Given the description of an element on the screen output the (x, y) to click on. 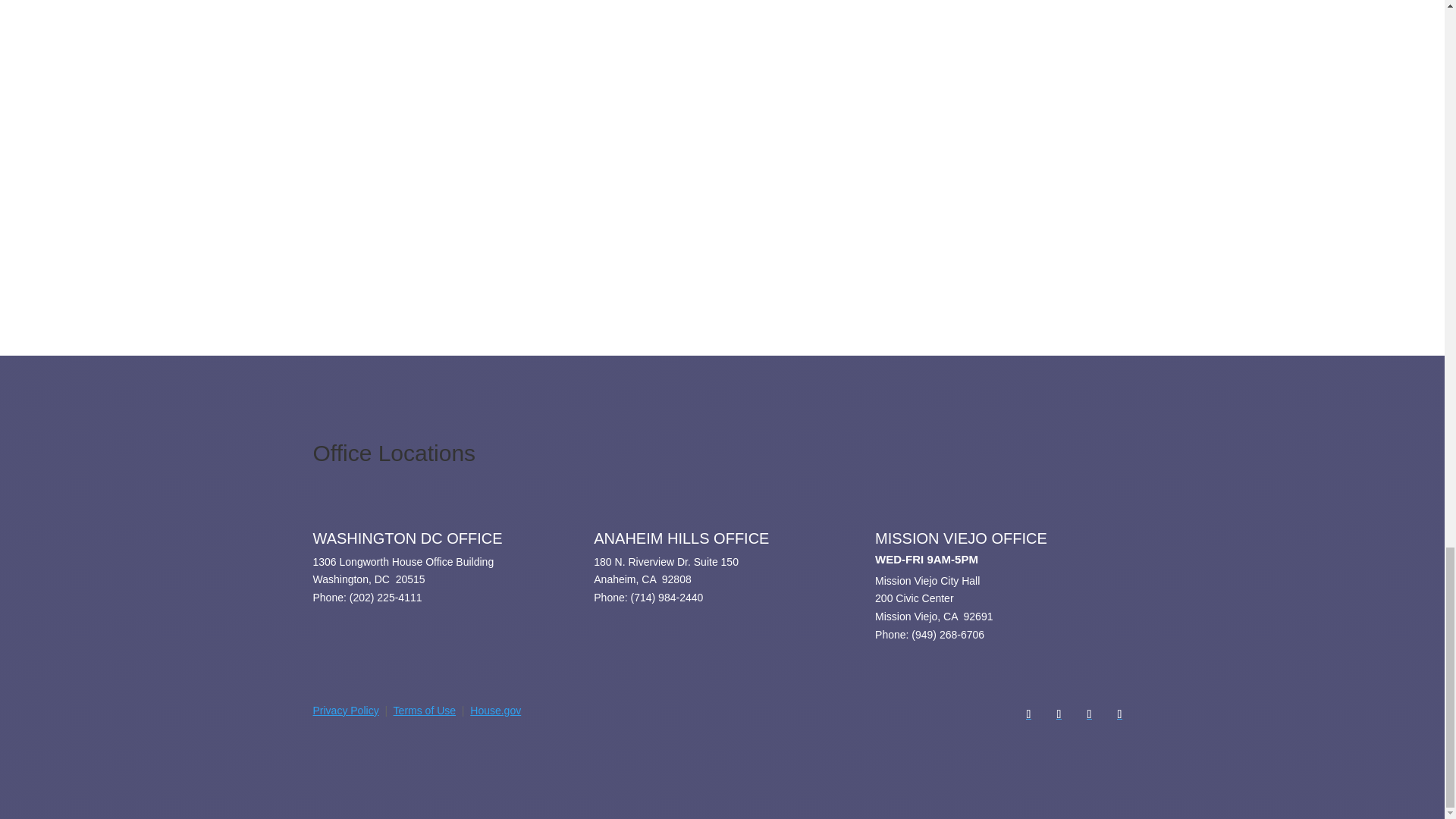
Follow on Instagram (1088, 713)
Follow on Facebook (1028, 713)
Follow on X (1058, 713)
Follow on Youtube (1118, 713)
